Given the description of an element on the screen output the (x, y) to click on. 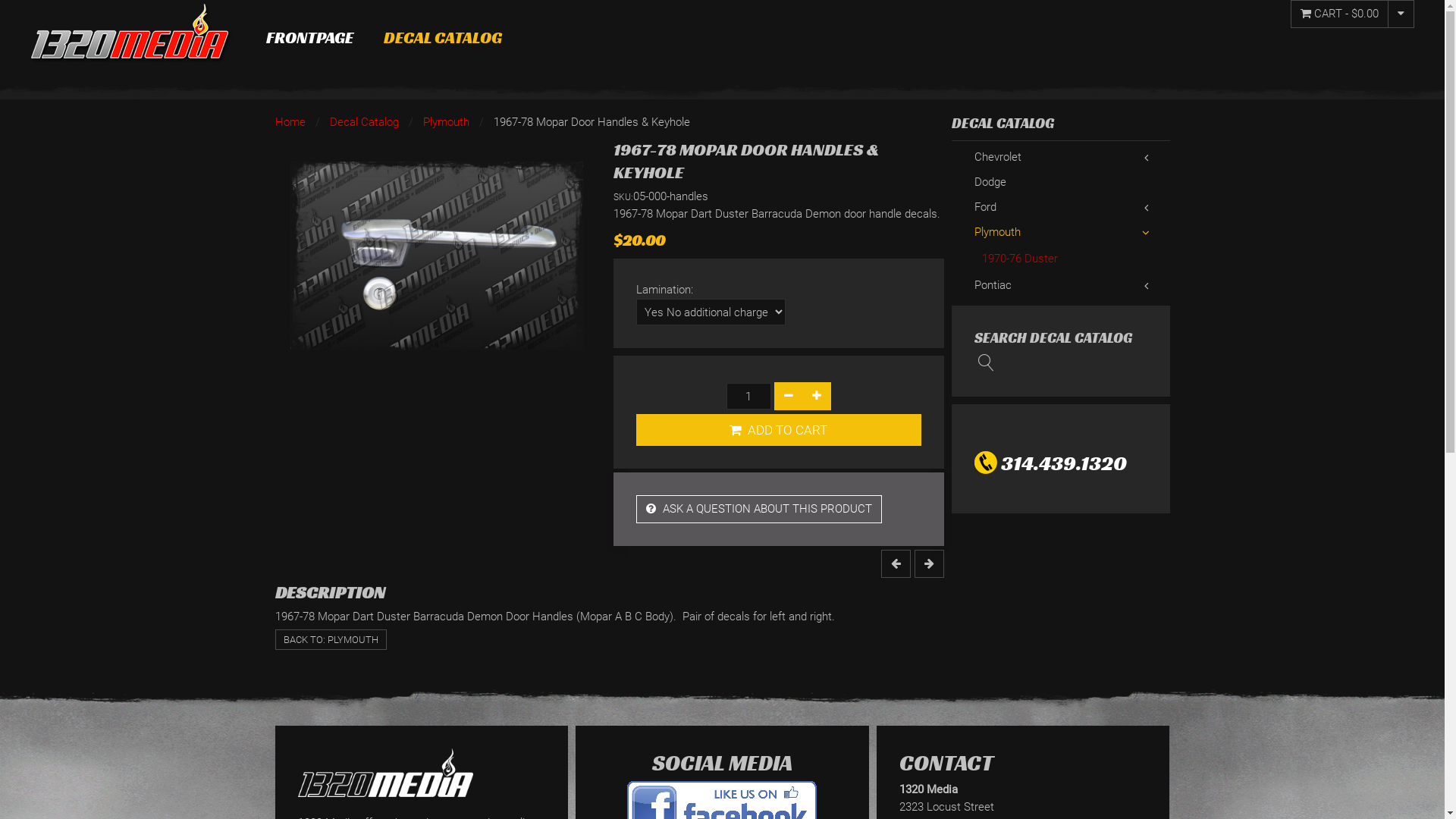
1320 Media - Graphic Design and Decals Element type: hover (131, 32)
CART - $0.00 Element type: text (1339, 14)
1970-76 Duster Element type: text (1072, 258)
Home Element type: text (289, 122)
DECAL CATALOG Element type: text (442, 37)
1320 MEDIA Facebook Page  Element type: hover (721, 808)
Decal Catalog Element type: text (363, 122)
mopar-door-handles.jpg Element type: hover (435, 255)
previous Element type: hover (895, 563)
Plymouth Element type: text (1060, 231)
BACK TO: PLYMOUTH Element type: text (329, 639)
  ADD TO CART Element type: text (778, 429)
1320 Media - Graphic Design and Decals Element type: hover (384, 772)
next Element type: hover (929, 563)
Pontiac Element type: text (1060, 285)
FRONTPAGE Element type: text (309, 37)
Plymouth Element type: text (446, 122)
Chevrolet Element type: text (1060, 156)
Ford Element type: text (1060, 206)
ASK A QUESTION ABOUT THIS PRODUCT Element type: text (758, 509)
Dodge Element type: text (1060, 181)
